Given the description of an element on the screen output the (x, y) to click on. 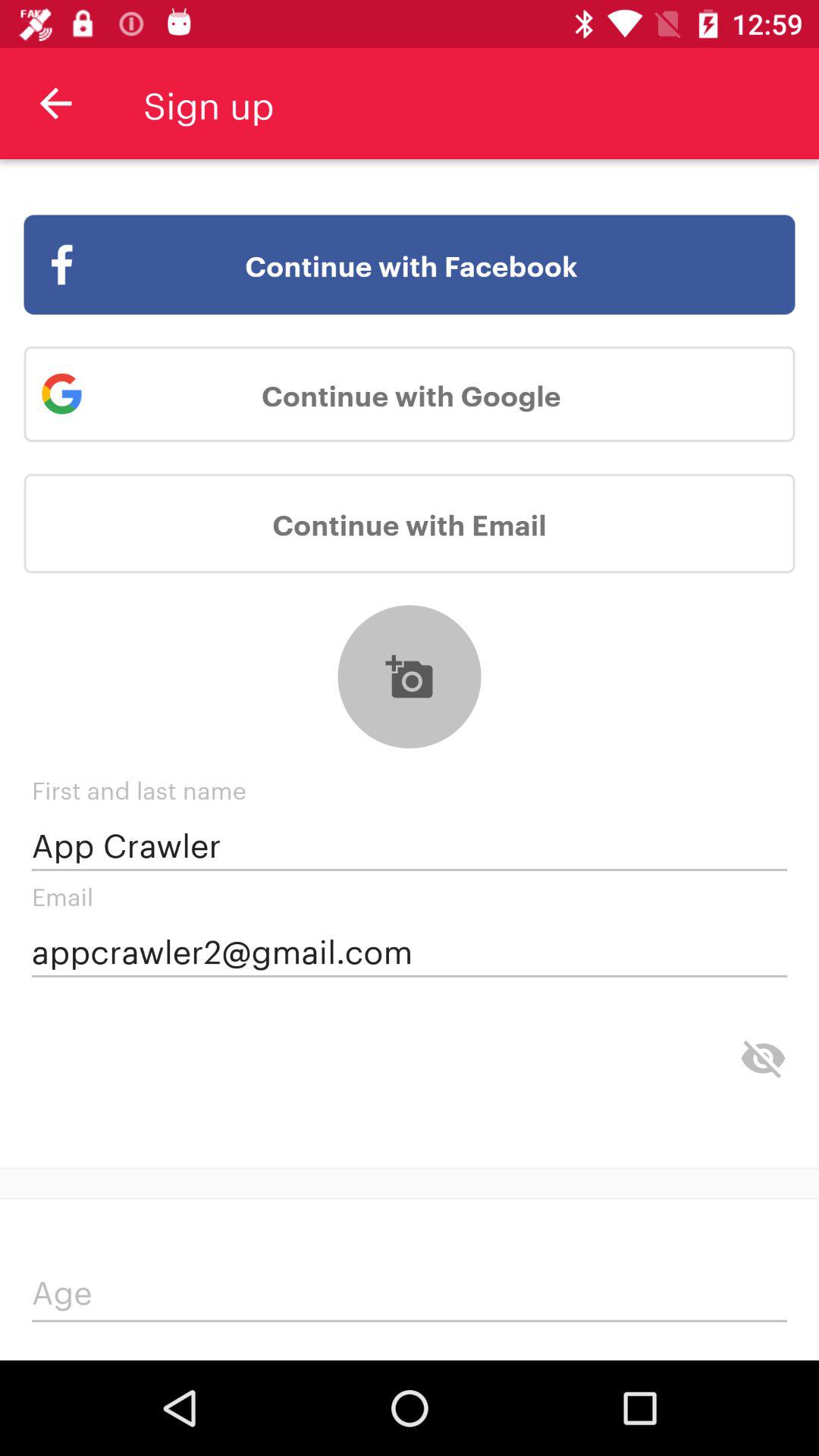
view hidden characters (763, 1058)
